Given the description of an element on the screen output the (x, y) to click on. 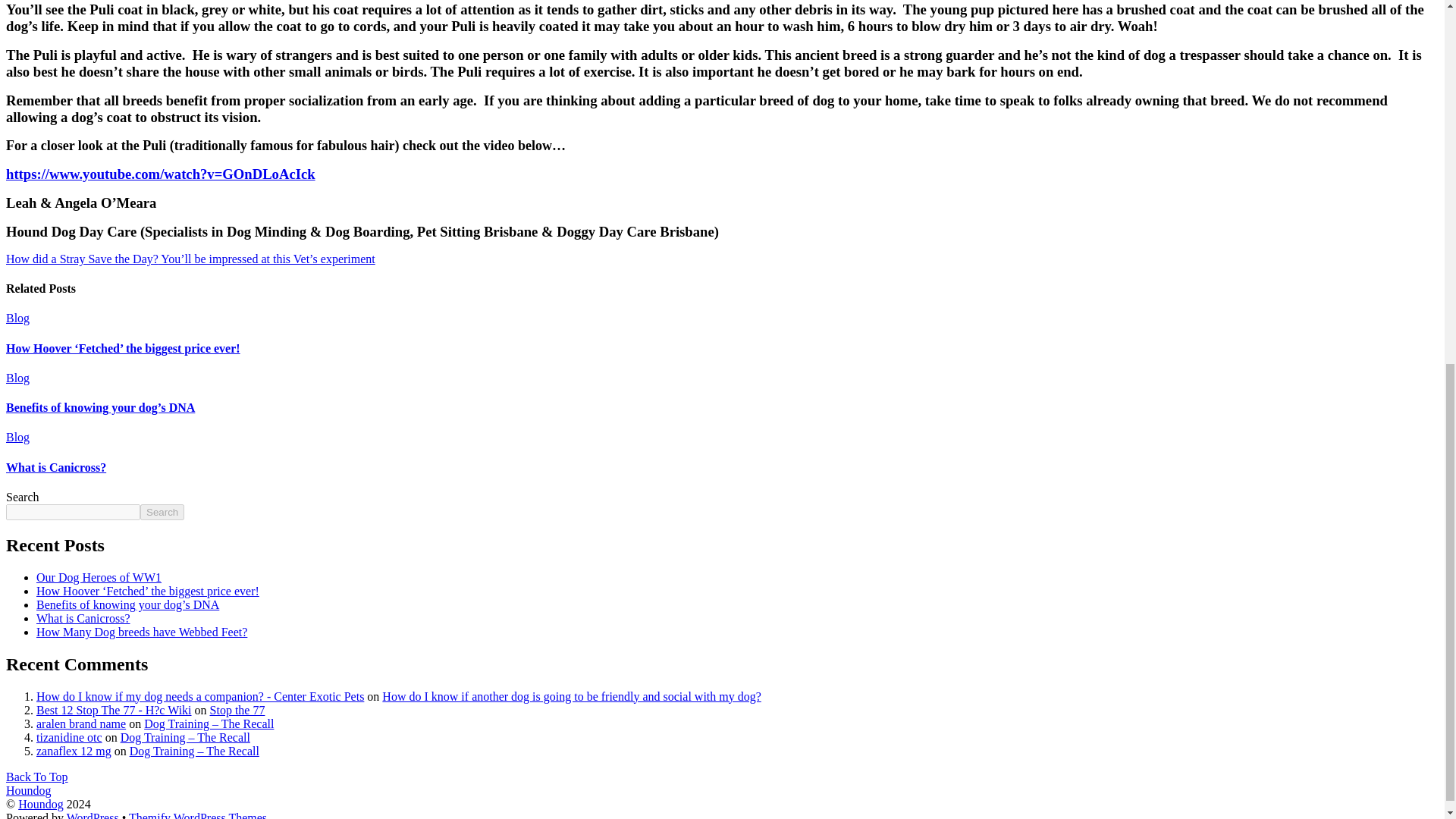
How Many Dog breeds have Webbed Feet? (141, 631)
Our Dog Heroes of WW1 (98, 576)
Blog (17, 318)
Blog (17, 436)
tizanidine otc (68, 737)
Blog (17, 377)
Best 12 Stop The 77 - H?c Wiki (114, 709)
Stop the 77 (236, 709)
What is Canicross? (55, 467)
aralen brand name (80, 723)
Houndog (27, 789)
How did a Stray Save the Day? (81, 258)
Search (161, 512)
